Given the description of an element on the screen output the (x, y) to click on. 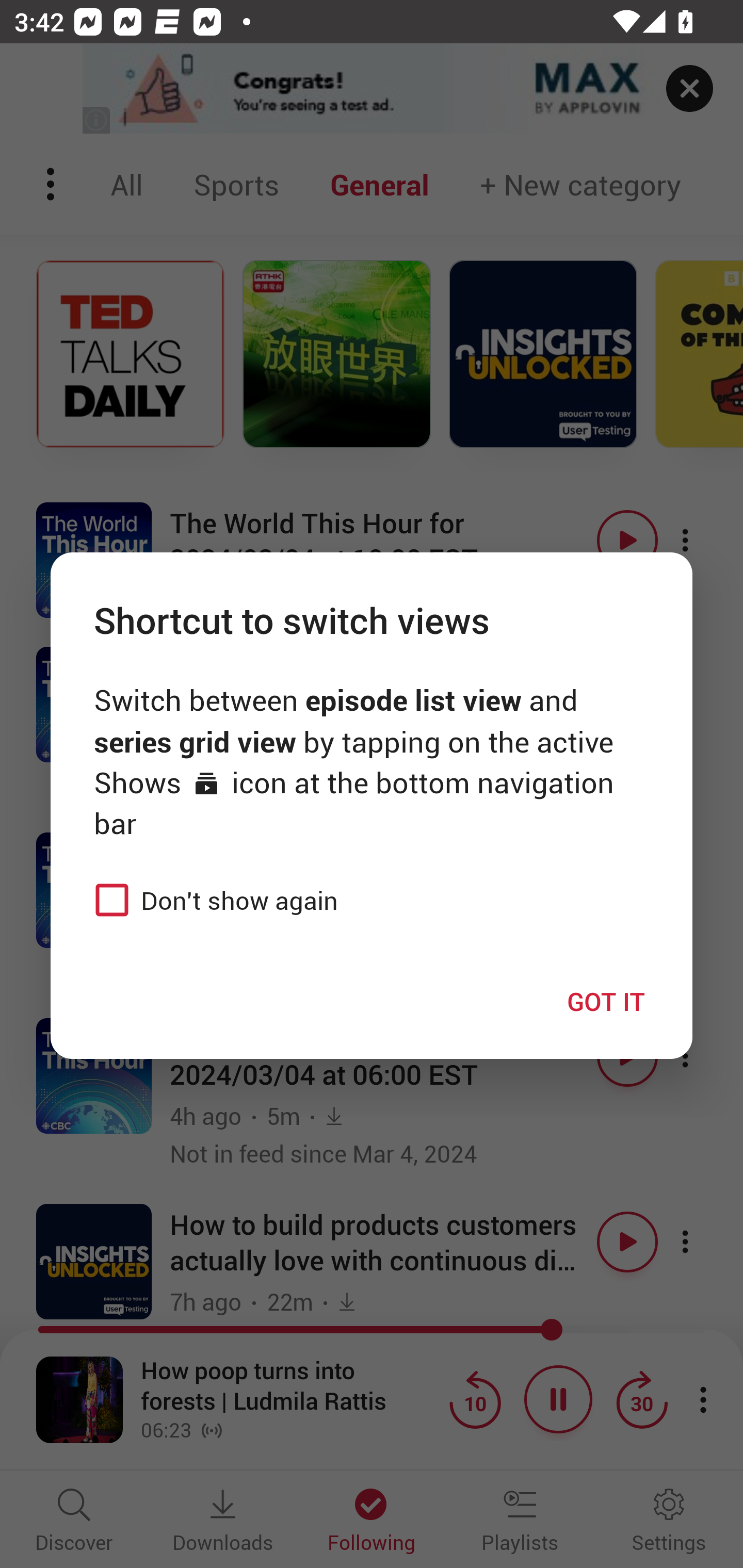
Don't show again (210, 899)
GOT IT (605, 1001)
